Given the description of an element on the screen output the (x, y) to click on. 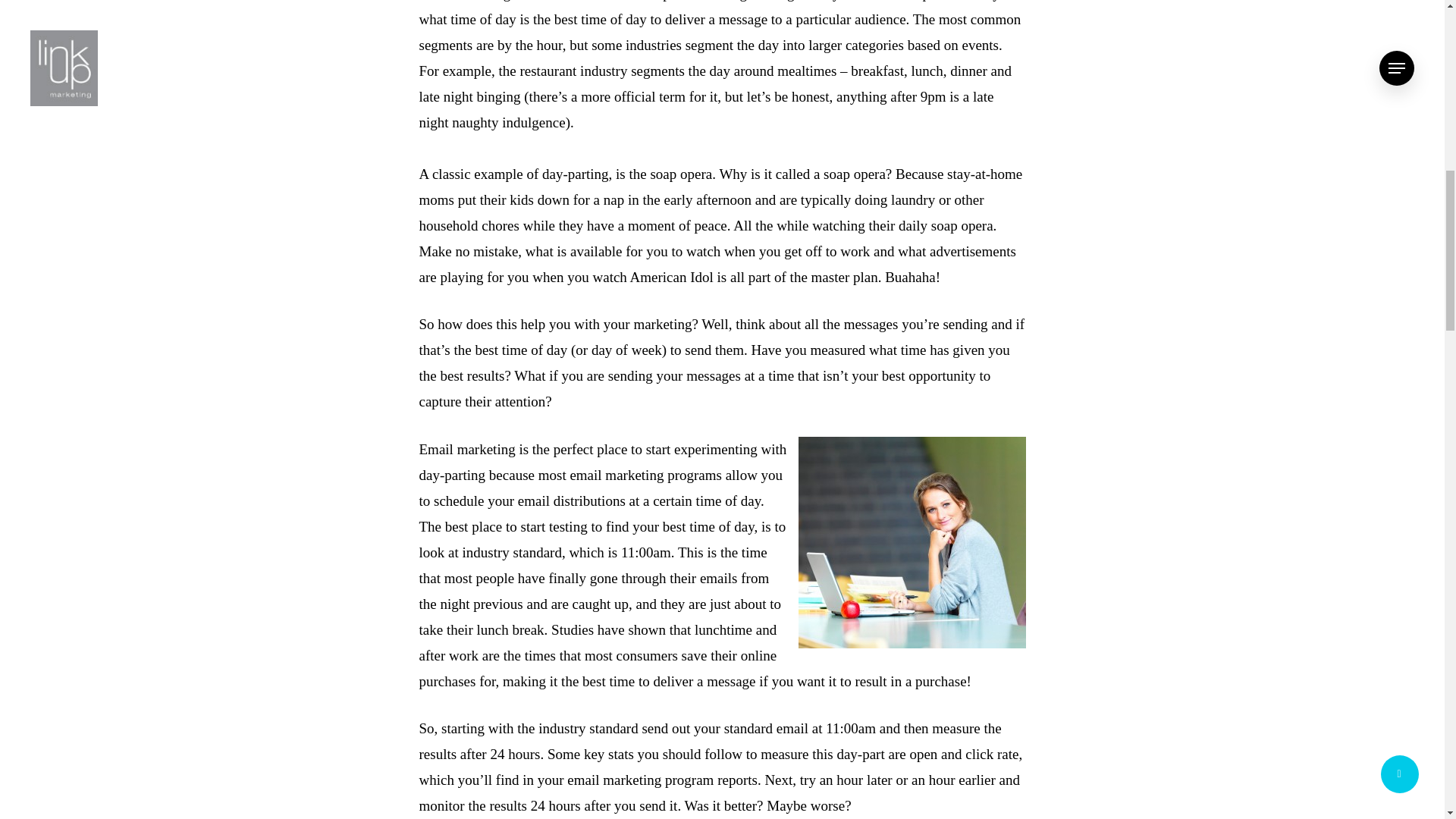
Lunchtime is traditionally the best time to send emails (911, 542)
